Given the description of an element on the screen output the (x, y) to click on. 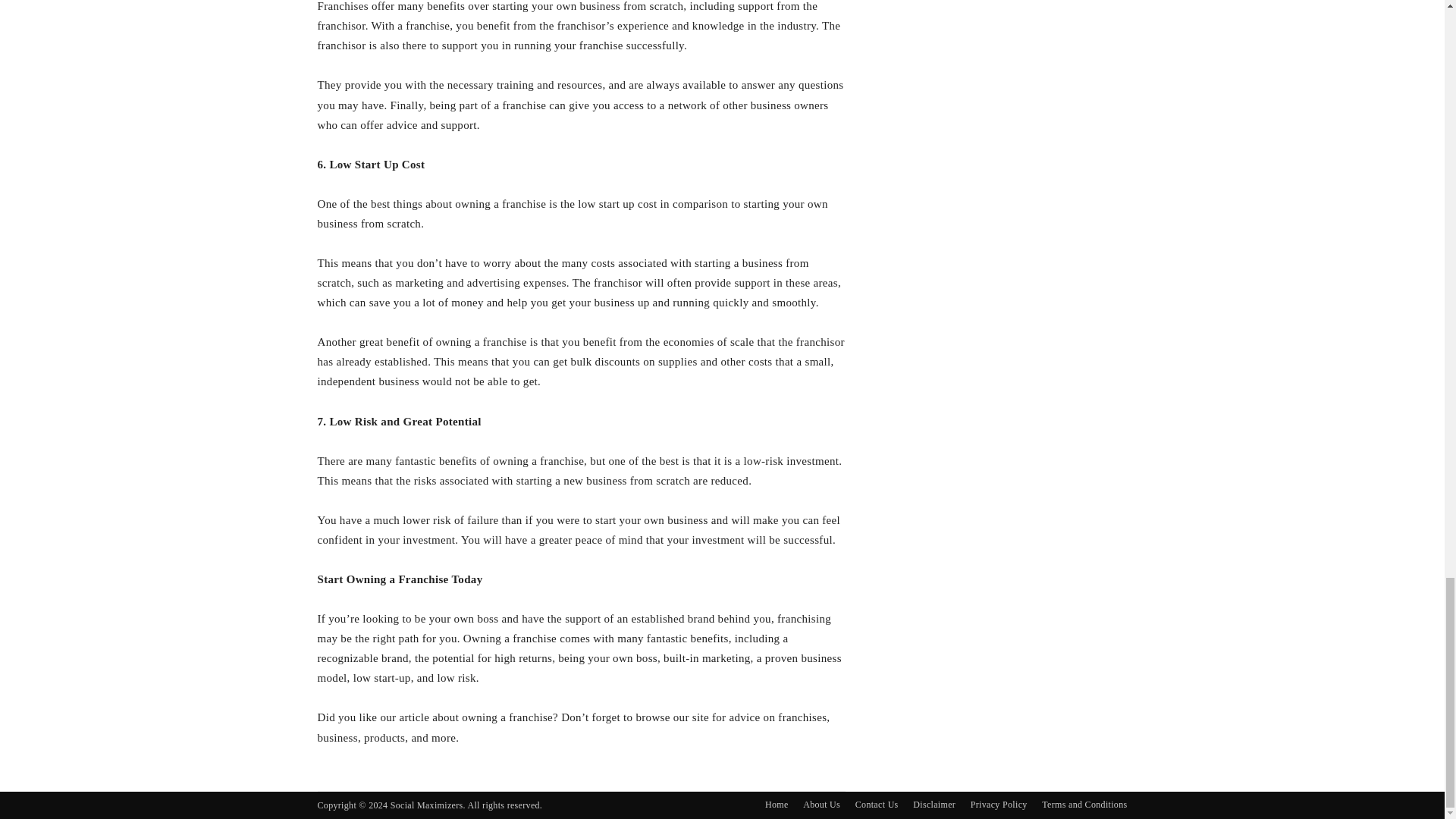
About Us (821, 804)
Home (777, 804)
